Given the description of an element on the screen output the (x, y) to click on. 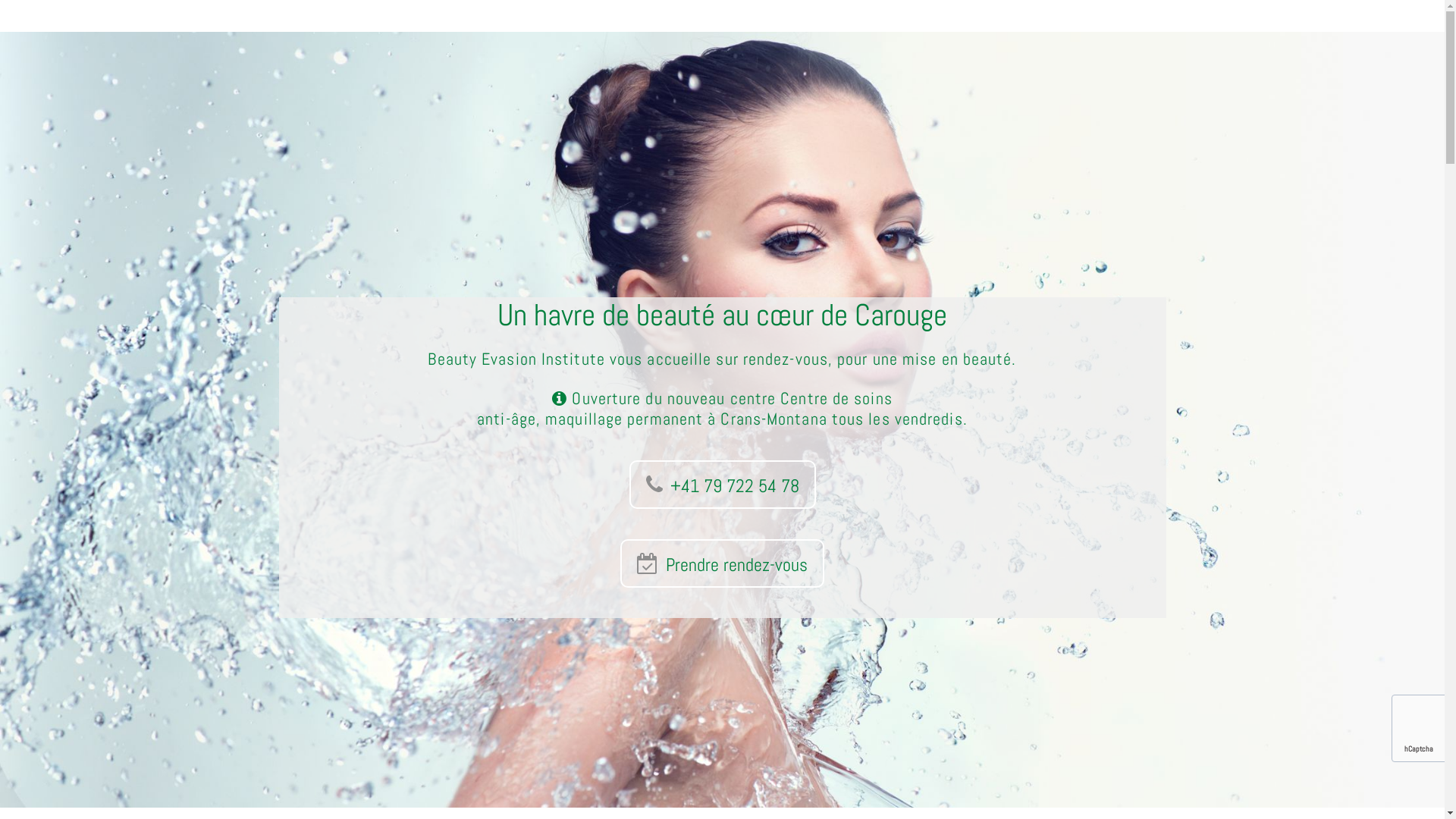
Prendre rendez-vous Element type: text (722, 563)
+41 79 722 54 78 Element type: text (722, 484)
